Given the description of an element on the screen output the (x, y) to click on. 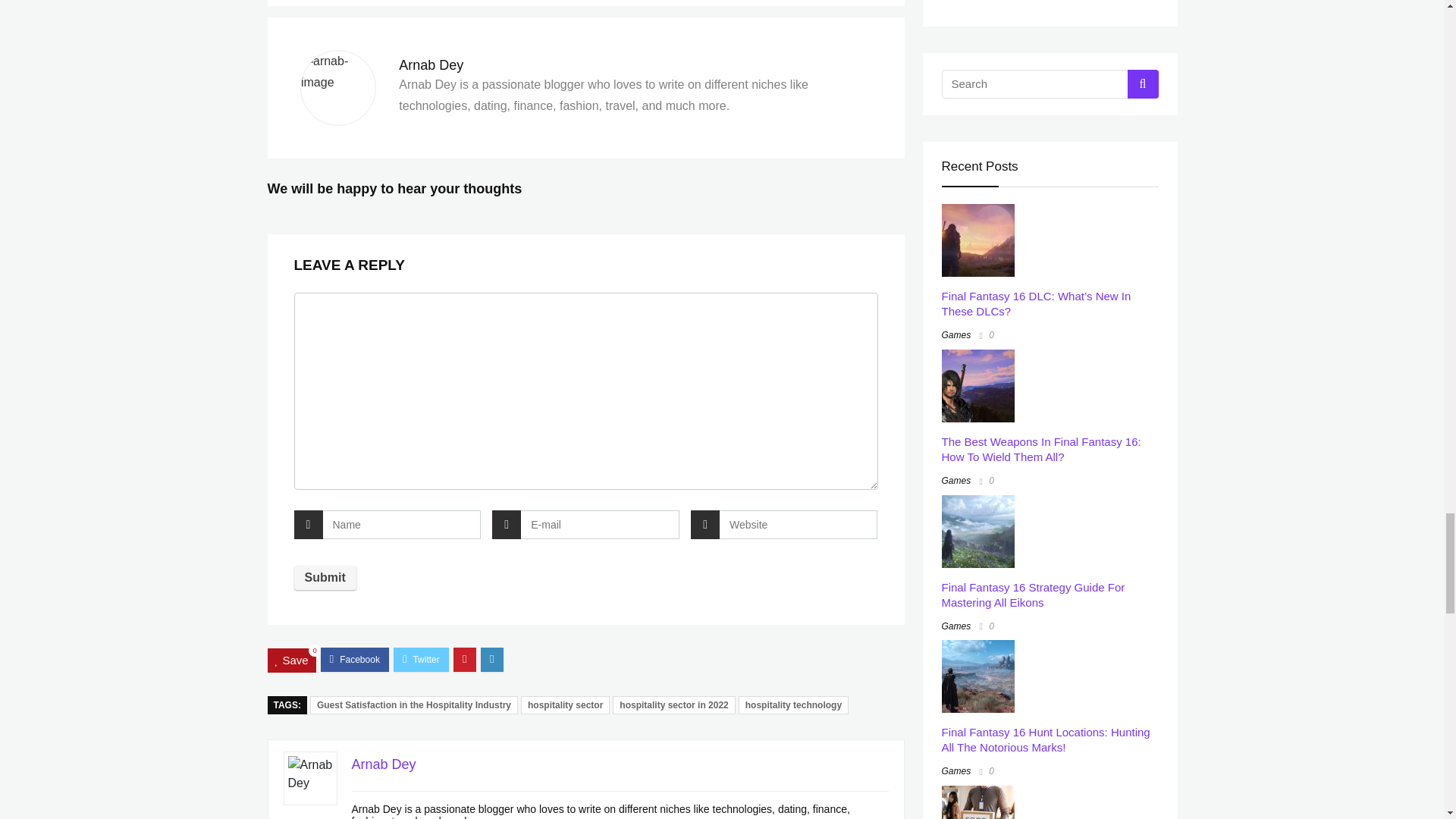
Submit (325, 577)
